Given the description of an element on the screen output the (x, y) to click on. 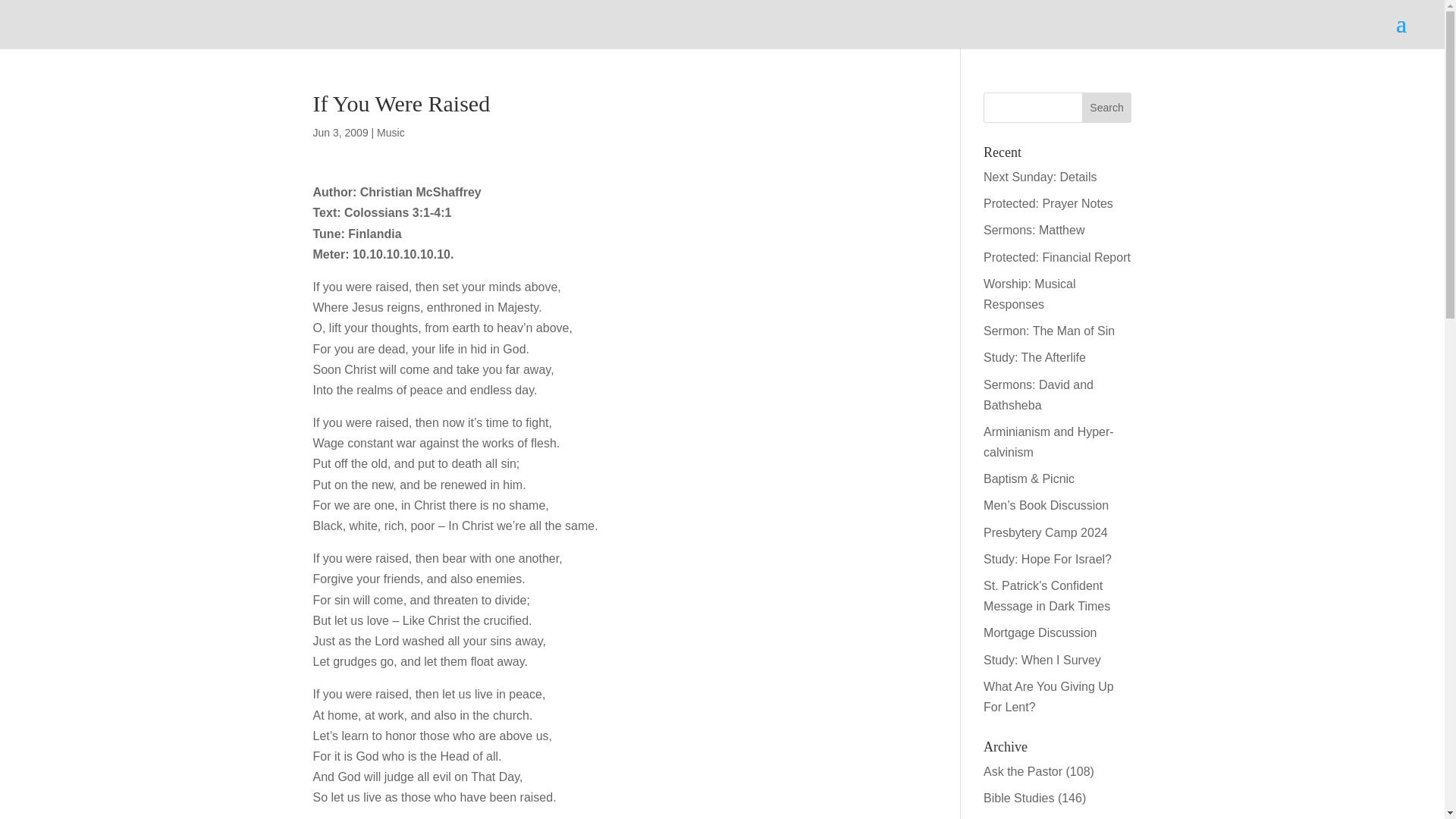
Search (1106, 107)
